Given the description of an element on the screen output the (x, y) to click on. 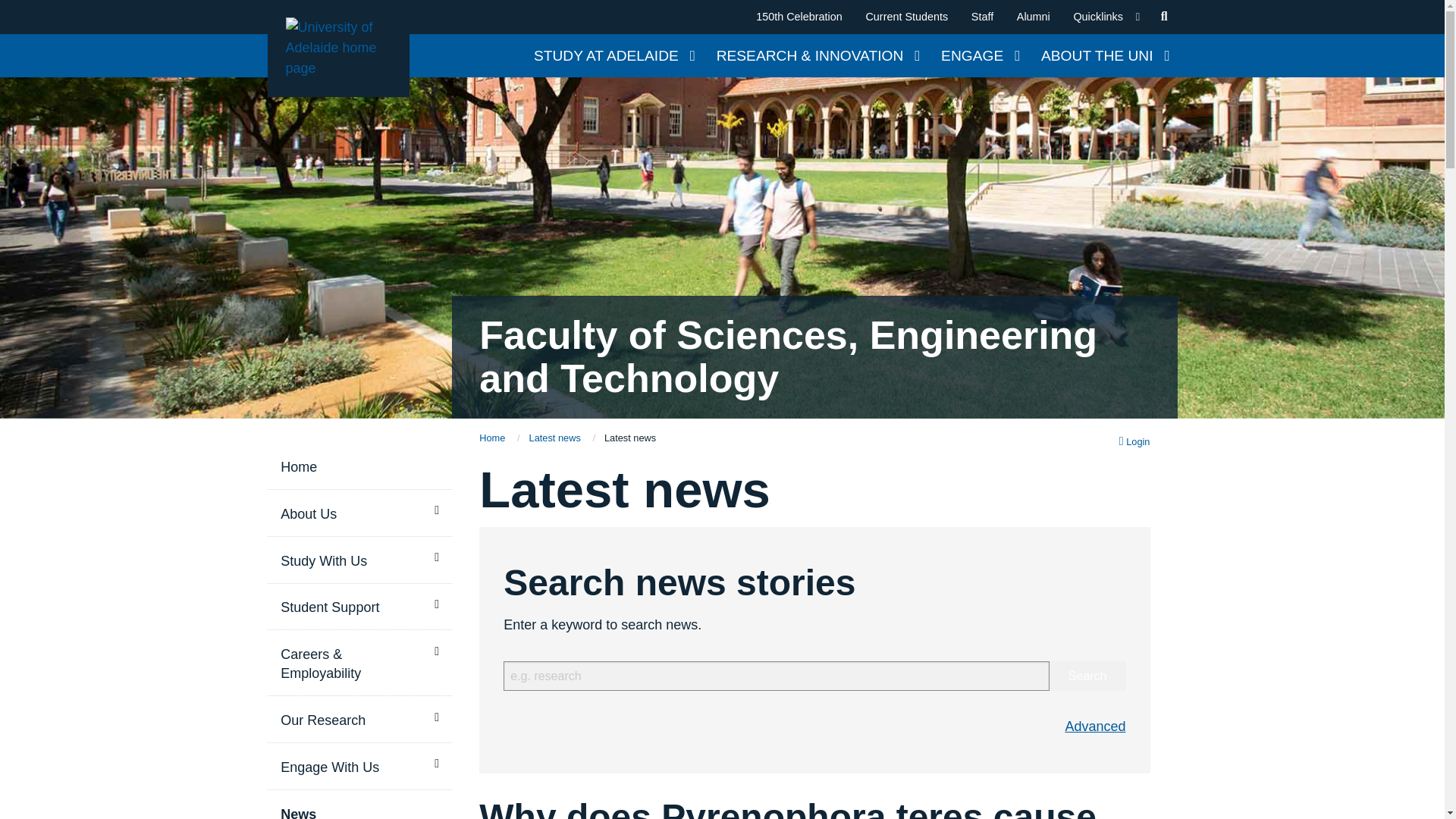
Quicklinks (1105, 16)
Staff (981, 16)
Current Students (907, 16)
Search (1087, 675)
Alumni (1033, 16)
STUDY AT ADELAIDE (613, 55)
150th Celebration (798, 16)
